Given the description of an element on the screen output the (x, y) to click on. 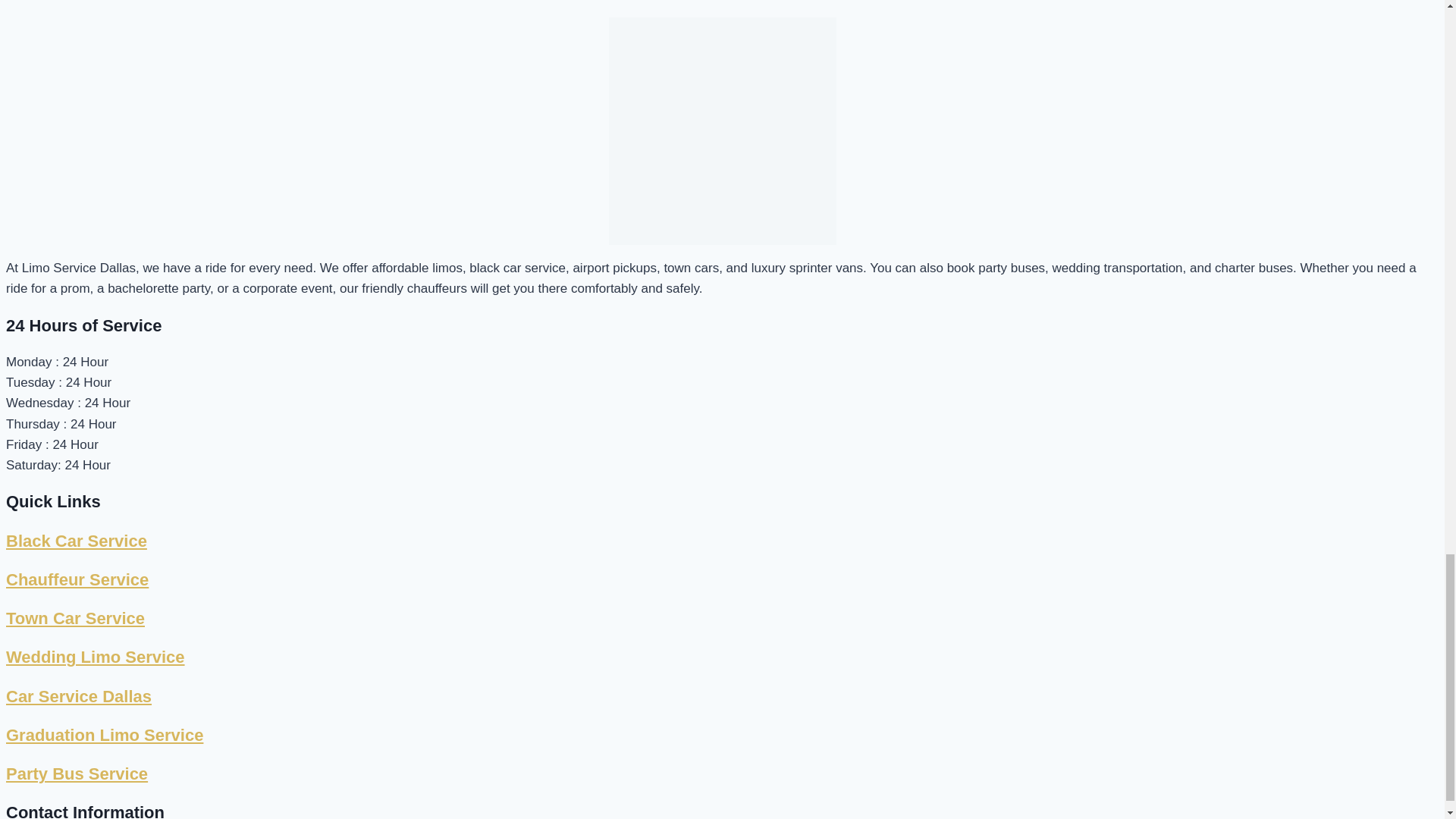
Car Service Dallas (78, 696)
Black Car Service (76, 540)
Wedding Limo Service (94, 656)
Town Car Service (74, 618)
cropped-limo-service-dallas.webp (721, 130)
Chauffeur Service (76, 579)
